Given the description of an element on the screen output the (x, y) to click on. 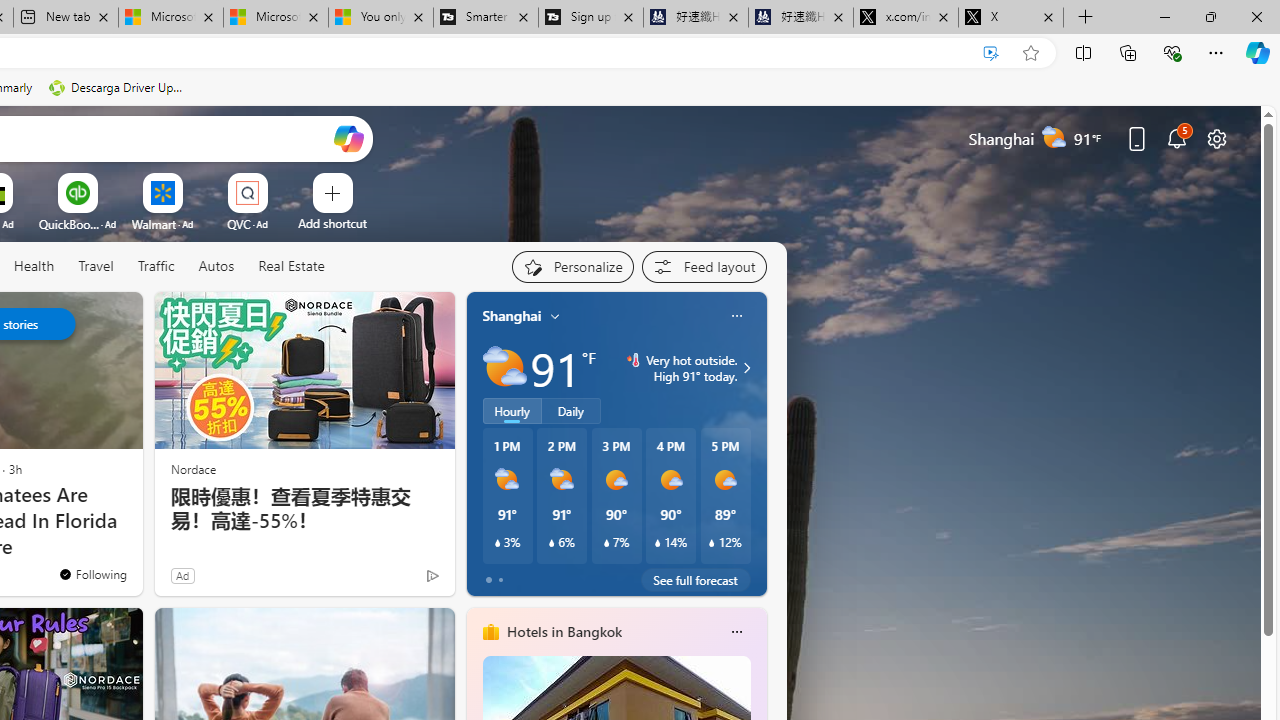
Page settings (1216, 138)
Real Estate (291, 265)
Class: icon-img (736, 632)
Autos (215, 265)
Health (33, 267)
Partly sunny (504, 368)
Daily (571, 411)
Personalize your feed" (571, 266)
